Given the description of an element on the screen output the (x, y) to click on. 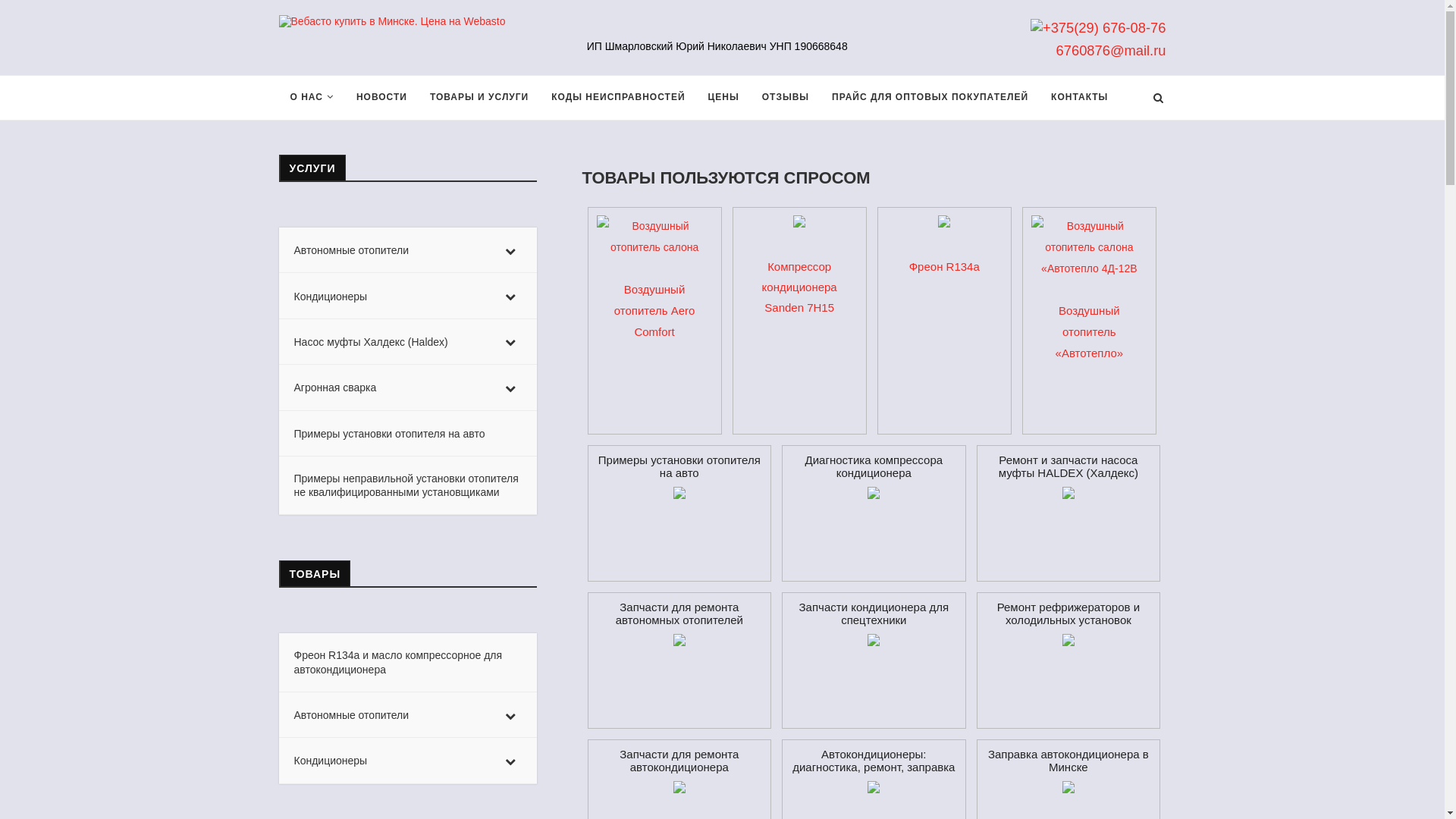
6760876@mail.ru Element type: text (1111, 50)
+375(29) 676-08-76 Element type: text (1098, 27)
